Given the description of an element on the screen output the (x, y) to click on. 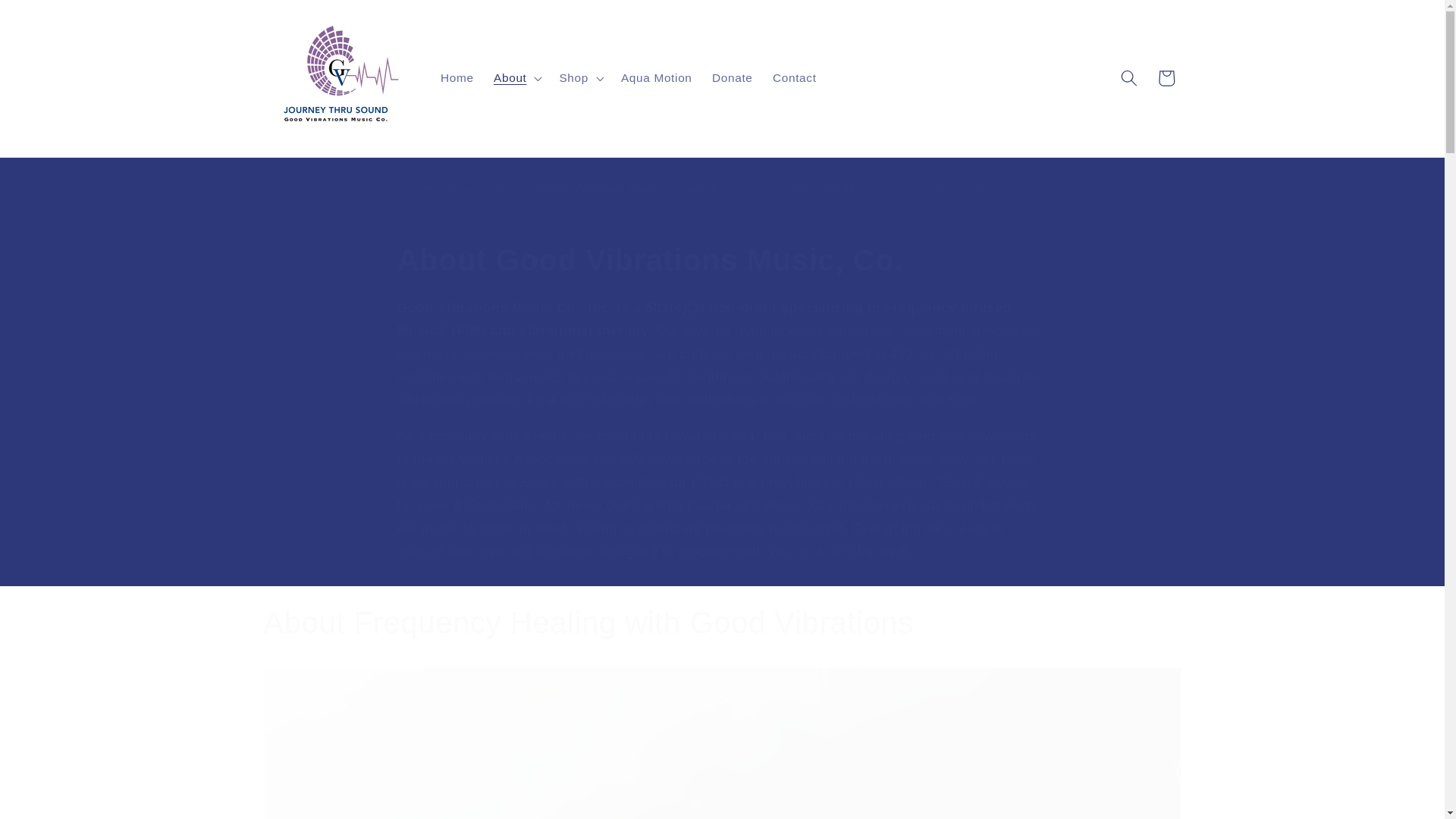
About Frequency Healing with Good Vibrations (721, 622)
About Good Vibrations Music, Co. (722, 260)
Skip to content (50, 19)
Cart (1166, 77)
Home (456, 77)
Aqua Motion (656, 77)
Donate (731, 77)
Contact (794, 77)
